Given the description of an element on the screen output the (x, y) to click on. 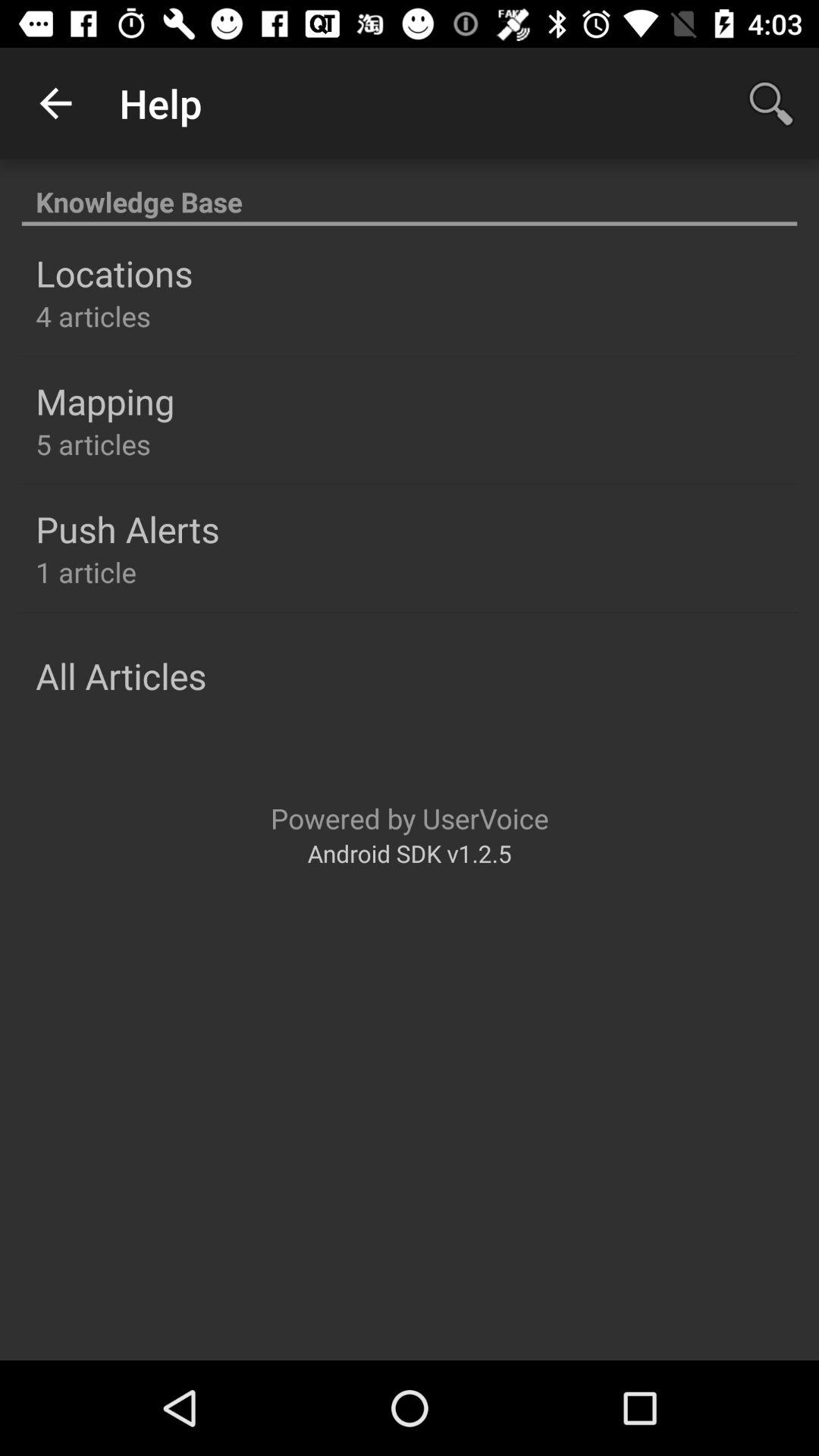
scroll to mapping item (104, 401)
